Given the description of an element on the screen output the (x, y) to click on. 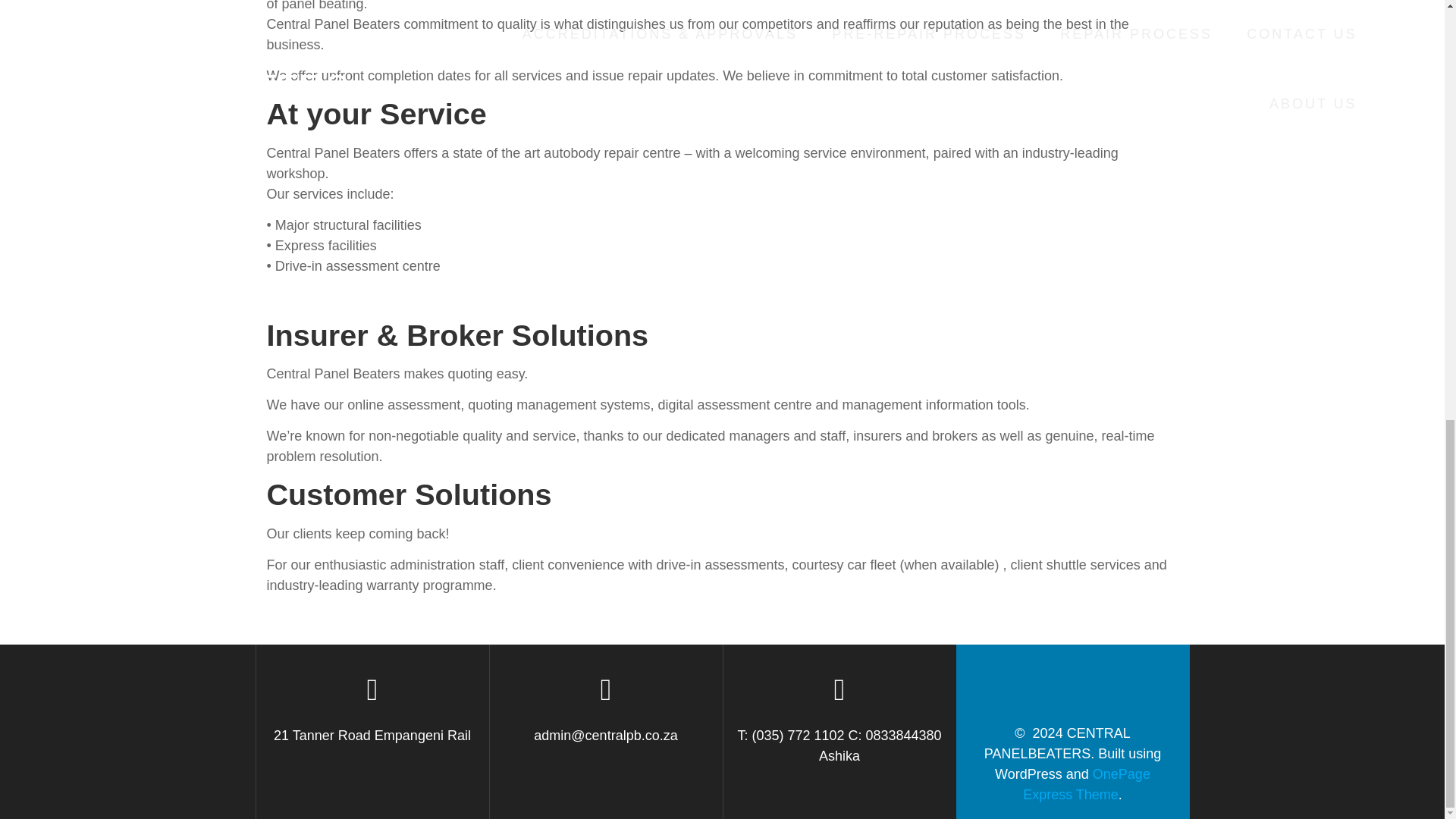
OnePage Express Theme (1086, 784)
